Given the description of an element on the screen output the (x, y) to click on. 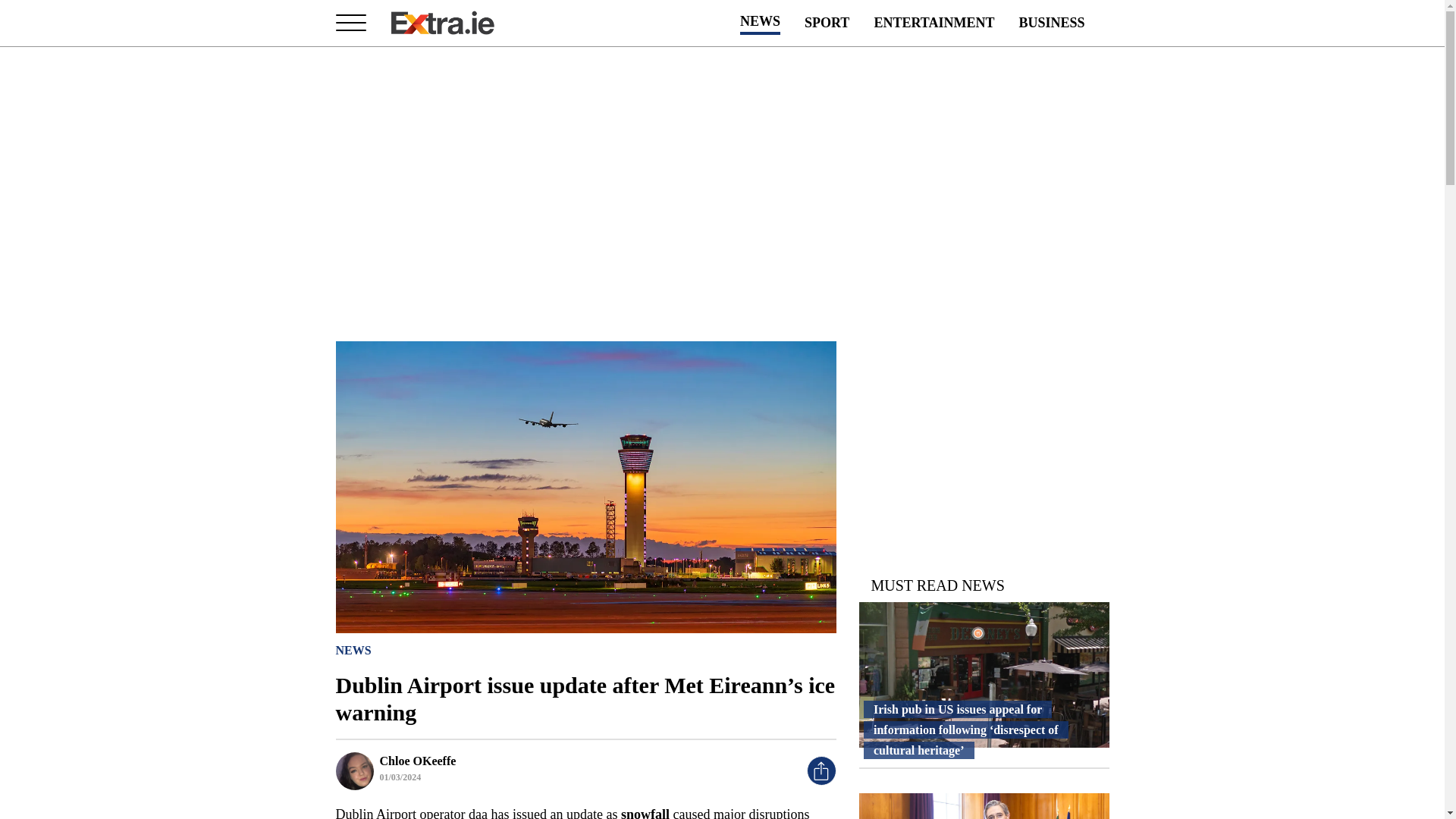
BUSINESS (1050, 23)
Chloe OKeeffe (416, 759)
ENTERTAINMENT (933, 23)
SPORT (826, 23)
NEWS (352, 649)
NEWS (759, 23)
snowfall (645, 812)
